Given the description of an element on the screen output the (x, y) to click on. 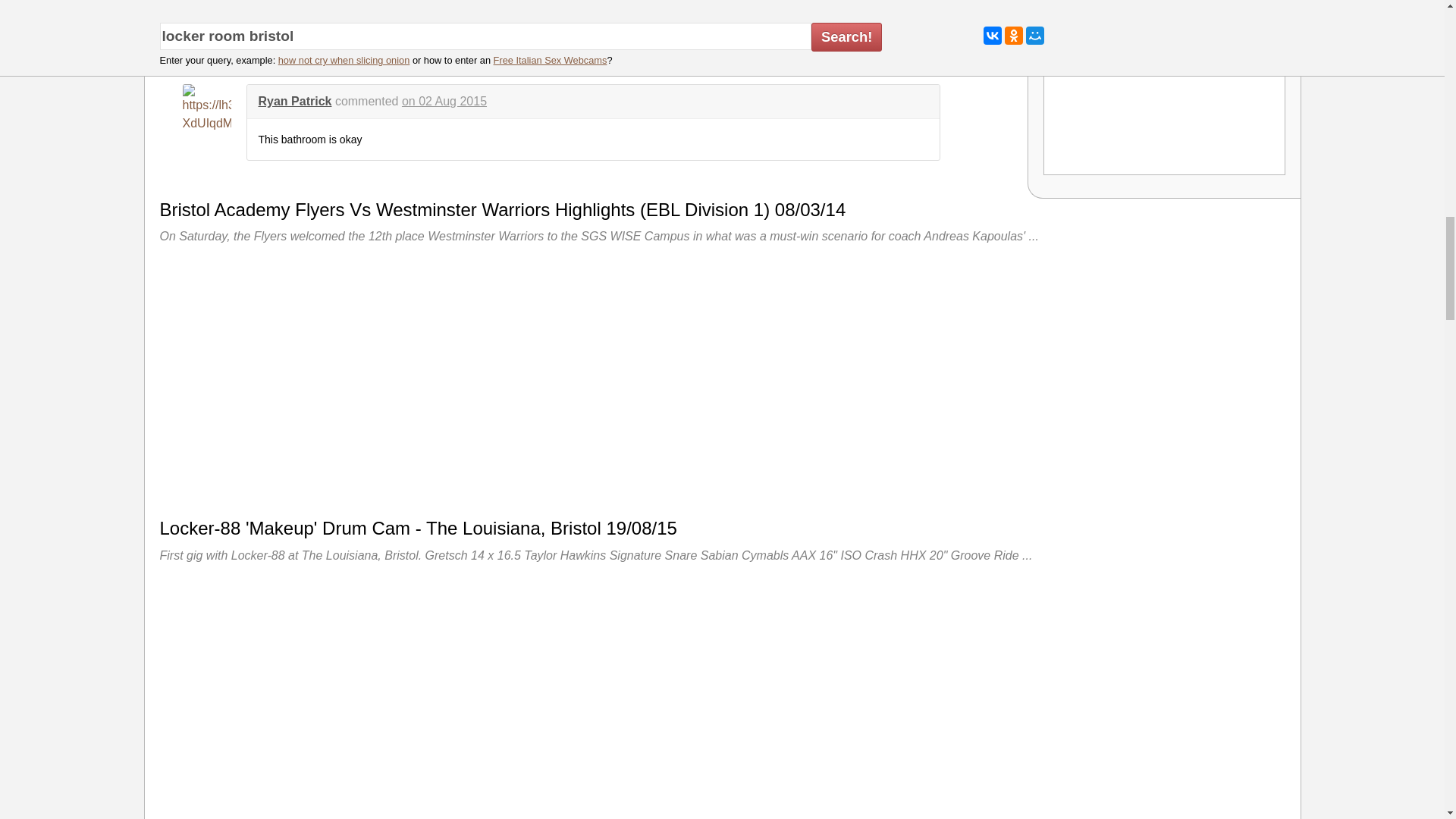
Ryan Patrick (294, 101)
Connor Erickson (306, 10)
on 02 Aug 2015 (443, 101)
Rudy locker room speech mp3 (1164, 92)
on 12 Dec 2014 (469, 10)
